Given the description of an element on the screen output the (x, y) to click on. 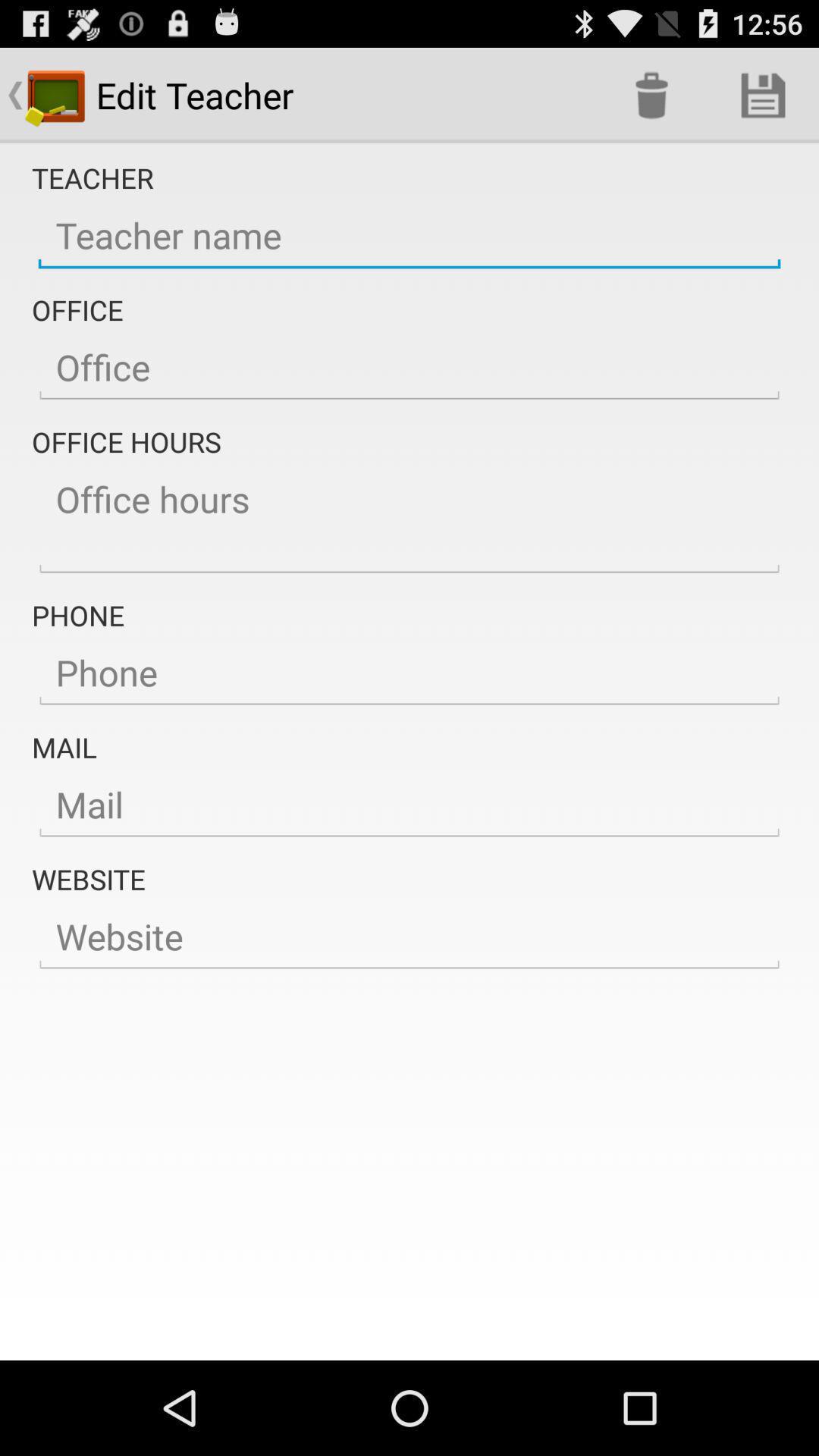
type the office (409, 367)
